Given the description of an element on the screen output the (x, y) to click on. 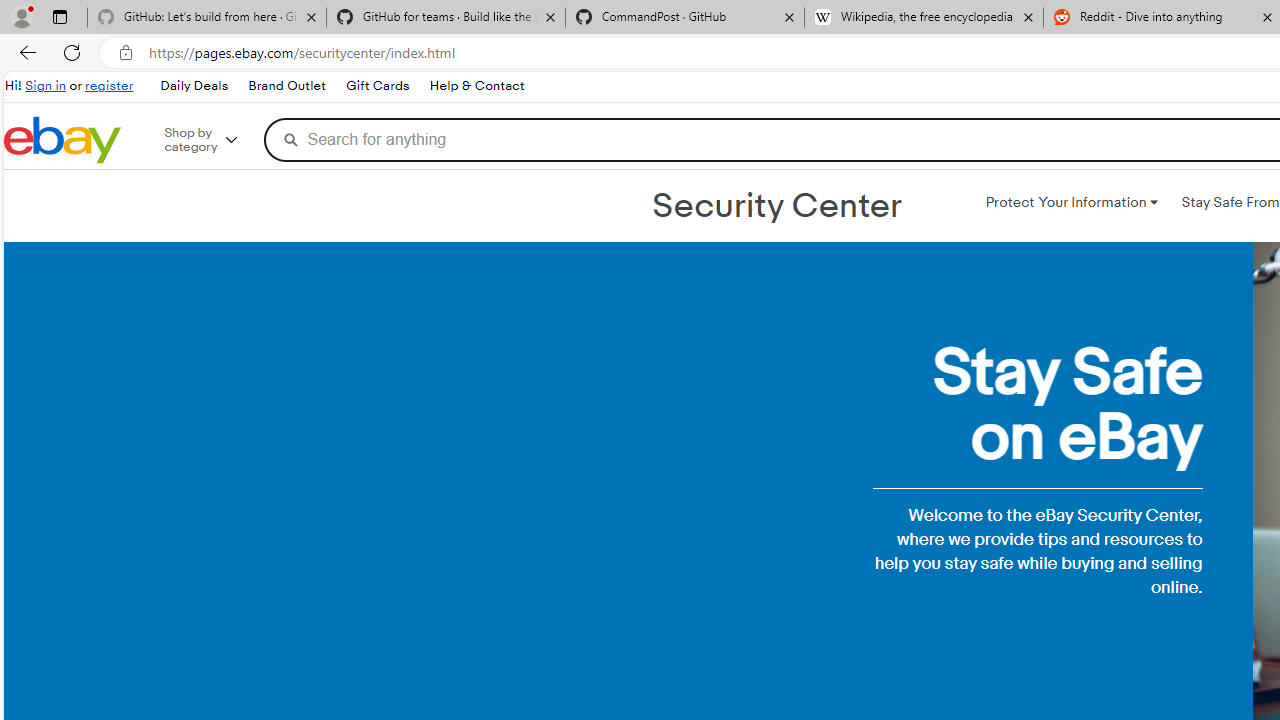
Daily Deals (193, 85)
Sign in (45, 85)
Protect Your Information  (1071, 202)
eBay Home (62, 139)
Daily Deals (194, 86)
register (109, 85)
eBay Home (62, 139)
Gift Cards (377, 86)
Help & Contact (476, 86)
Brand Outlet (287, 86)
